Given the description of an element on the screen output the (x, y) to click on. 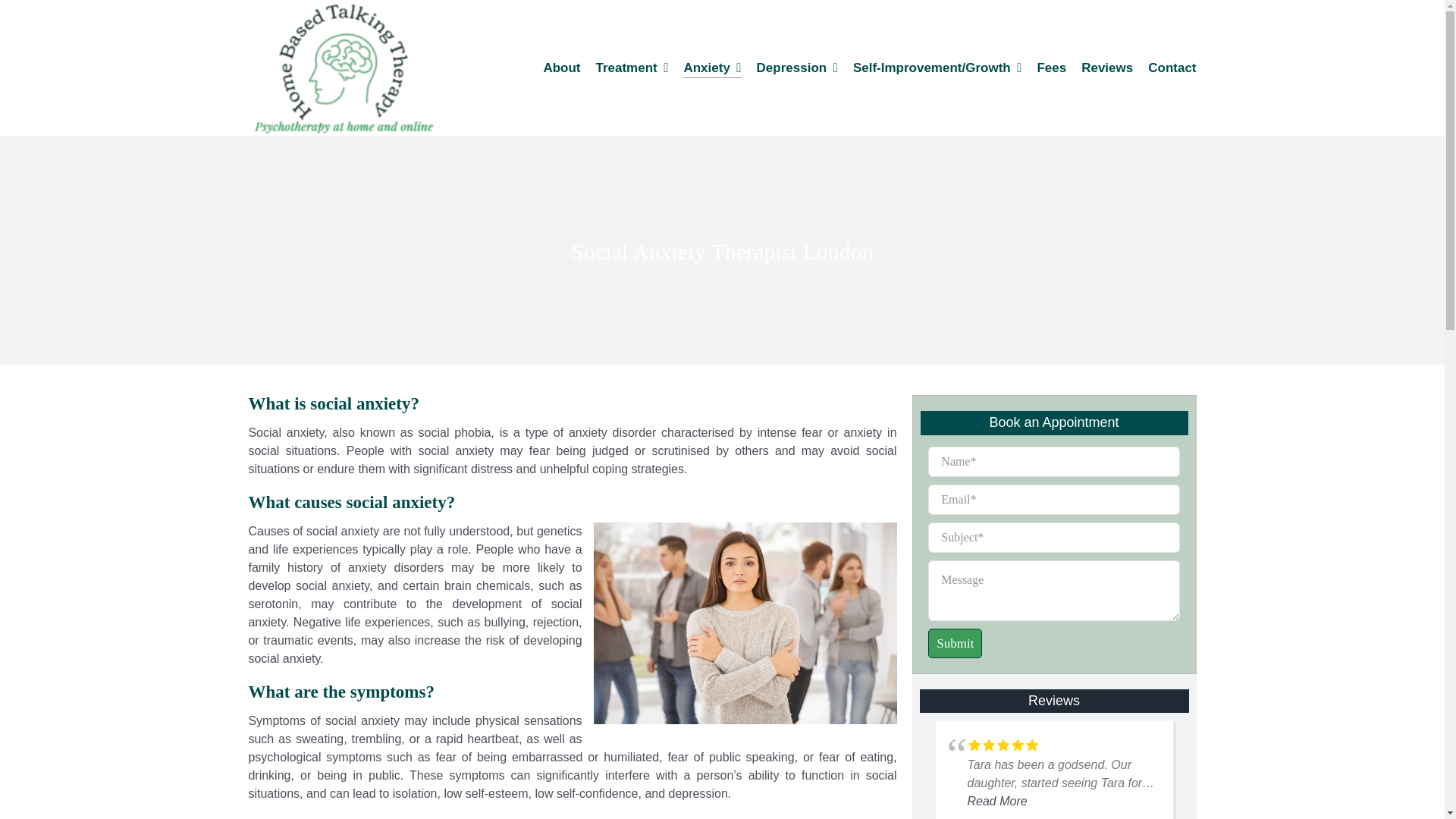
Treatment (631, 68)
Anxiety (711, 68)
Depression (797, 68)
Reviews (1106, 68)
Submit (1053, 552)
Contact (1171, 68)
About (561, 68)
Fees (1050, 68)
